Given the description of an element on the screen output the (x, y) to click on. 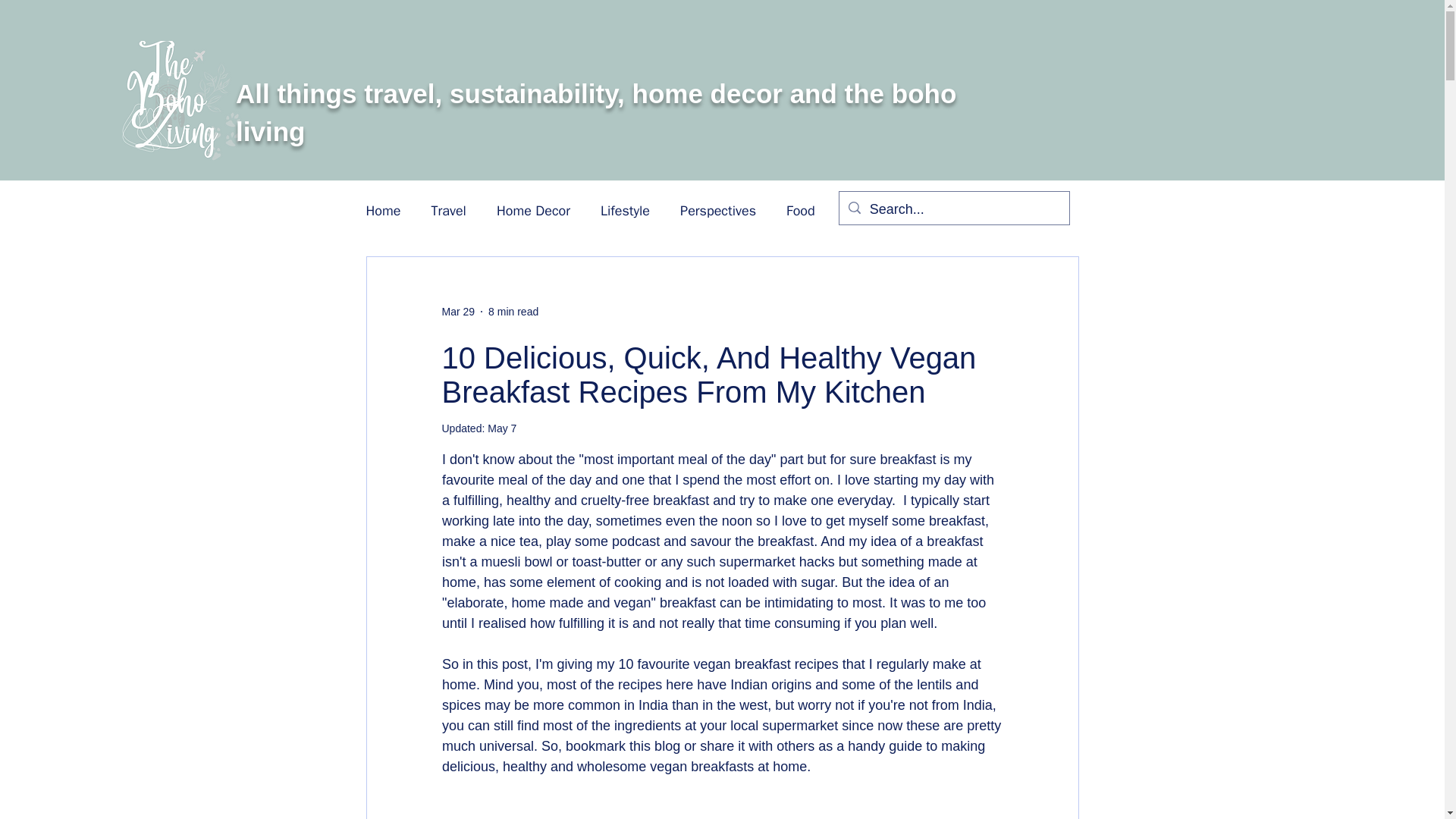
Lifestyle (624, 210)
Mar 29 (457, 310)
Perspectives (717, 210)
8 min read (512, 310)
Travel (447, 210)
Food (800, 210)
May 7 (501, 428)
Home (382, 210)
Home Decor (533, 210)
